Given the description of an element on the screen output the (x, y) to click on. 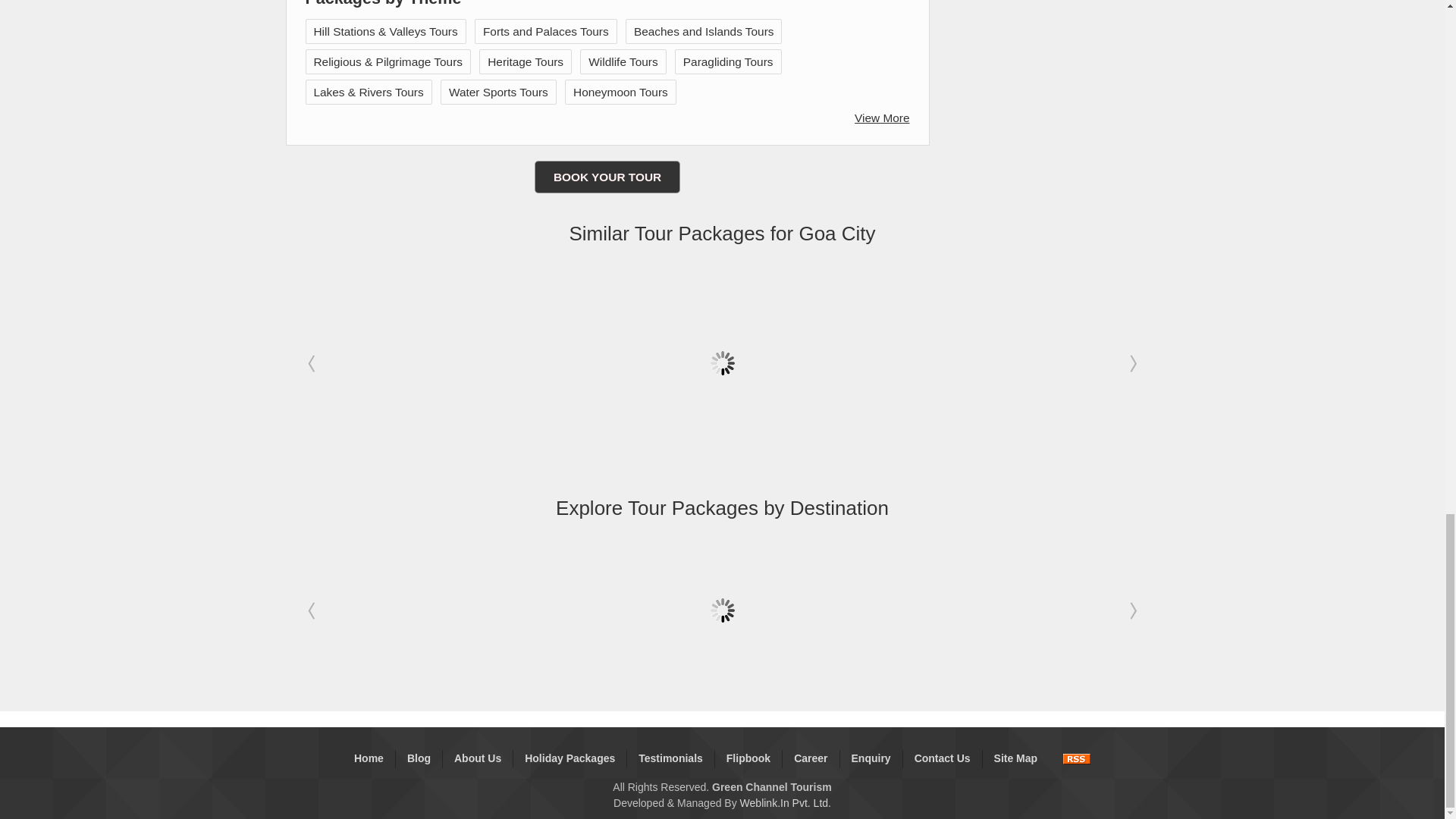
Beaches and Islands Tours (703, 31)
Heritage Tours (525, 61)
Forts and Palaces Tours (545, 31)
